Given the description of an element on the screen output the (x, y) to click on. 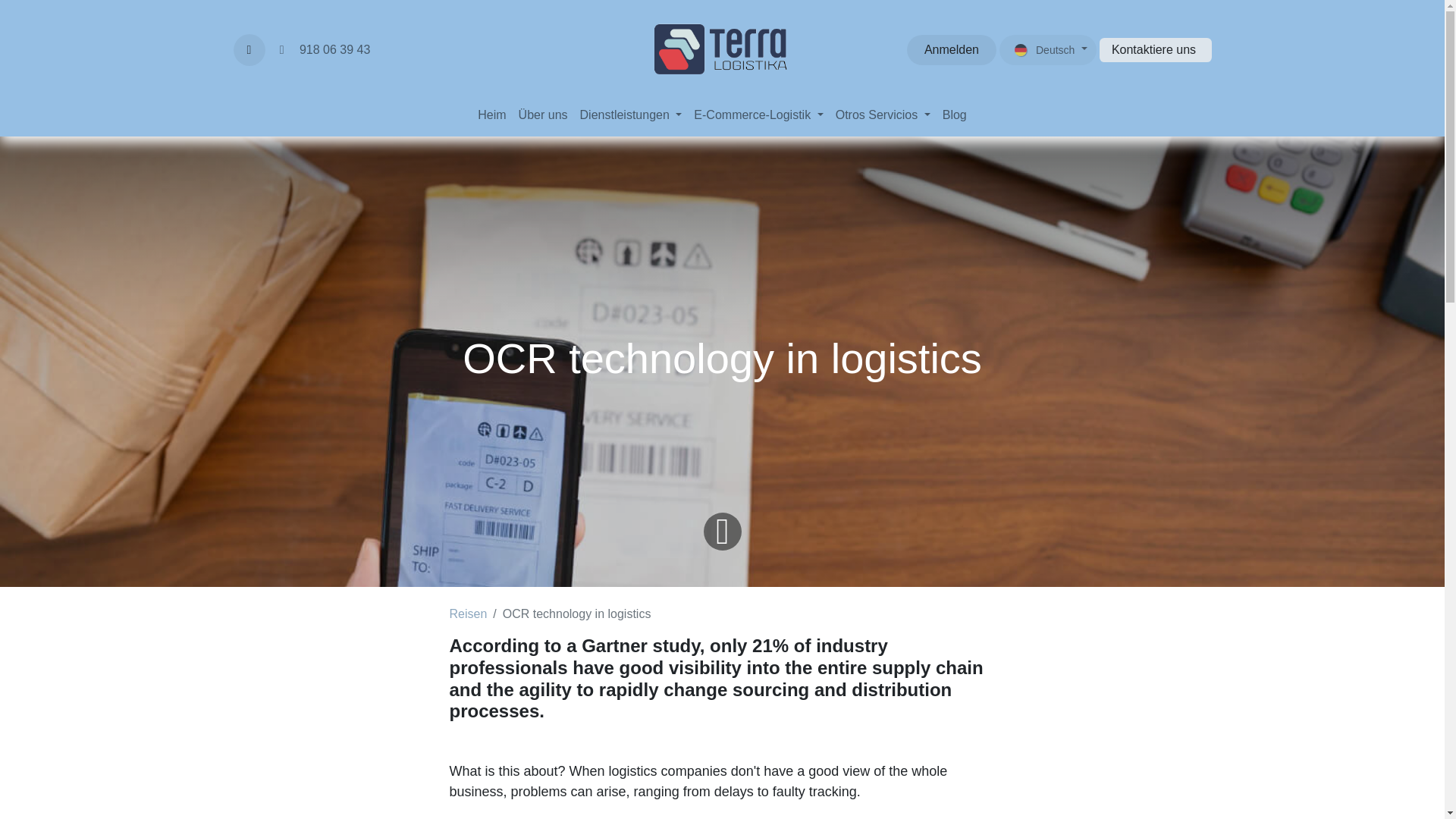
Deutsch (1047, 50)
Blog (954, 114)
Terra Logistika Servicios Integrales SL (721, 55)
  918 06 39 43 (722, 49)
Suchen (322, 50)
Dienstleistungen (248, 50)
E-Commerce-Logistik (630, 114)
Kontaktiere uns  (757, 114)
Otros Servicios (1155, 49)
Heim (882, 114)
Anmelden (491, 114)
